Given the description of an element on the screen output the (x, y) to click on. 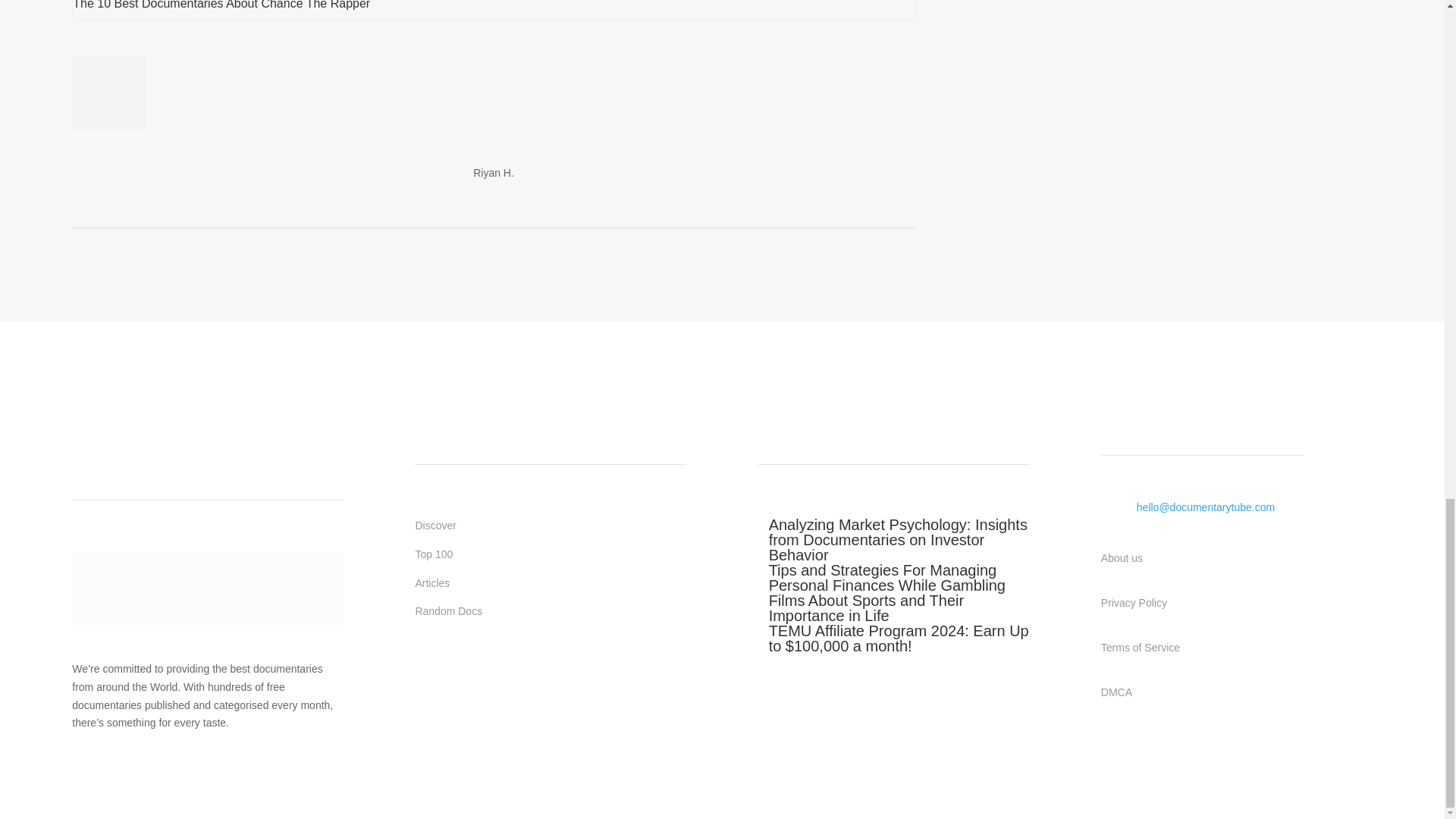
Follow on Facebook (426, 668)
dc-removebg-preview (207, 588)
The 10 Best Documentaries About Chance The Rapper (220, 4)
